Given the description of an element on the screen output the (x, y) to click on. 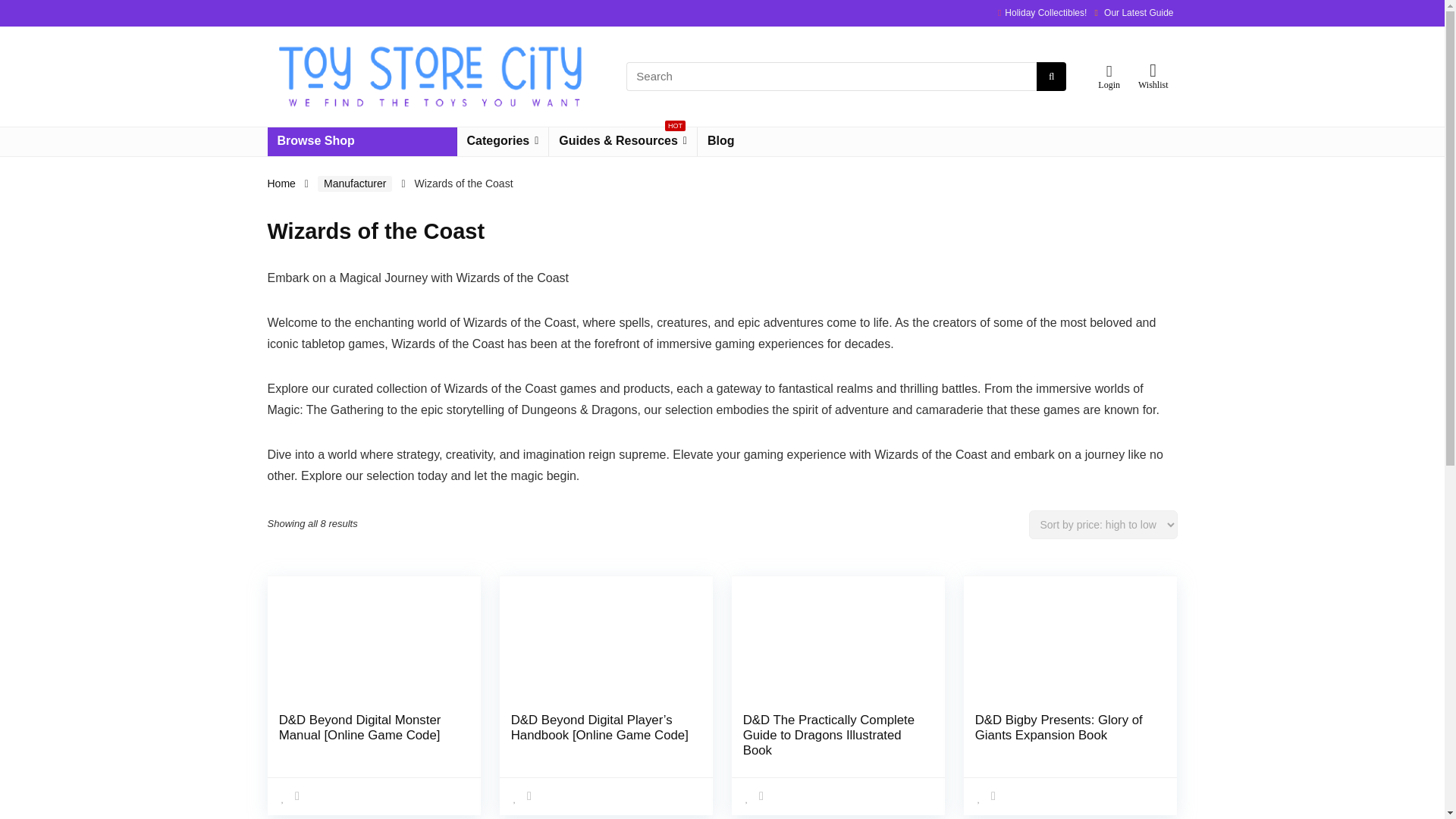
Browse Shop (360, 141)
Holiday Collectibles! (1045, 12)
Categories (502, 141)
Our Latest Guide (1138, 12)
